Given the description of an element on the screen output the (x, y) to click on. 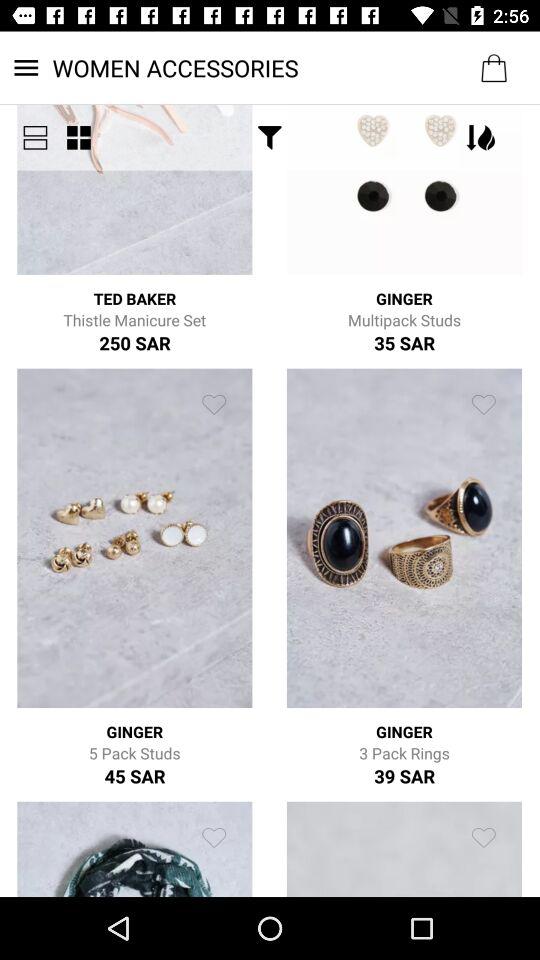
launch item below women accessories item (78, 137)
